Given the description of an element on the screen output the (x, y) to click on. 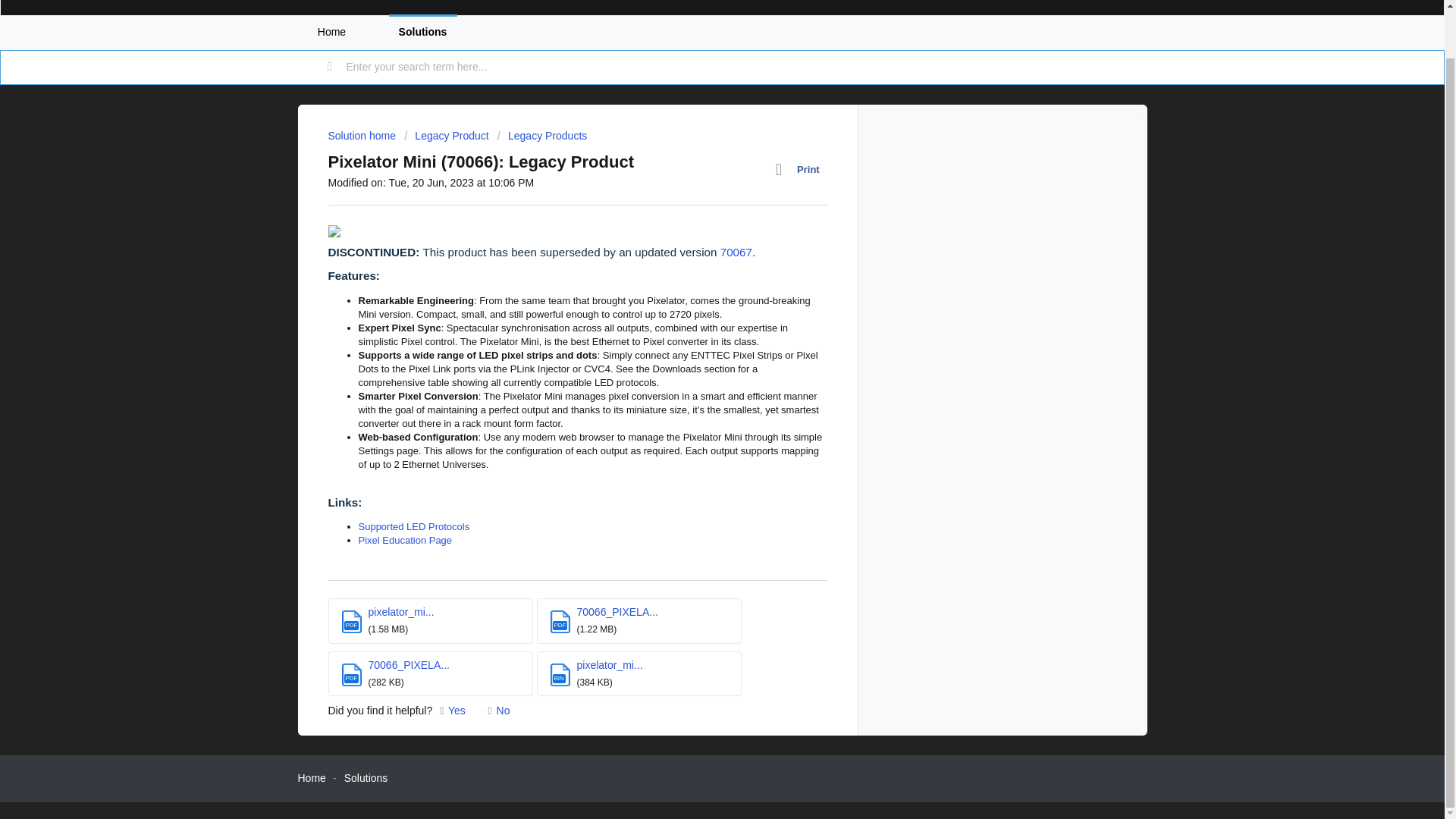
Solution home (362, 135)
Solutions (365, 777)
Print this Article (801, 169)
Solutions (422, 31)
70067 (736, 251)
Supported LED Protocols (413, 526)
Legacy Products (542, 135)
Home (310, 777)
Legacy Product (446, 135)
Print (801, 169)
Pixel Education Page (404, 540)
Home (331, 31)
